Given the description of an element on the screen output the (x, y) to click on. 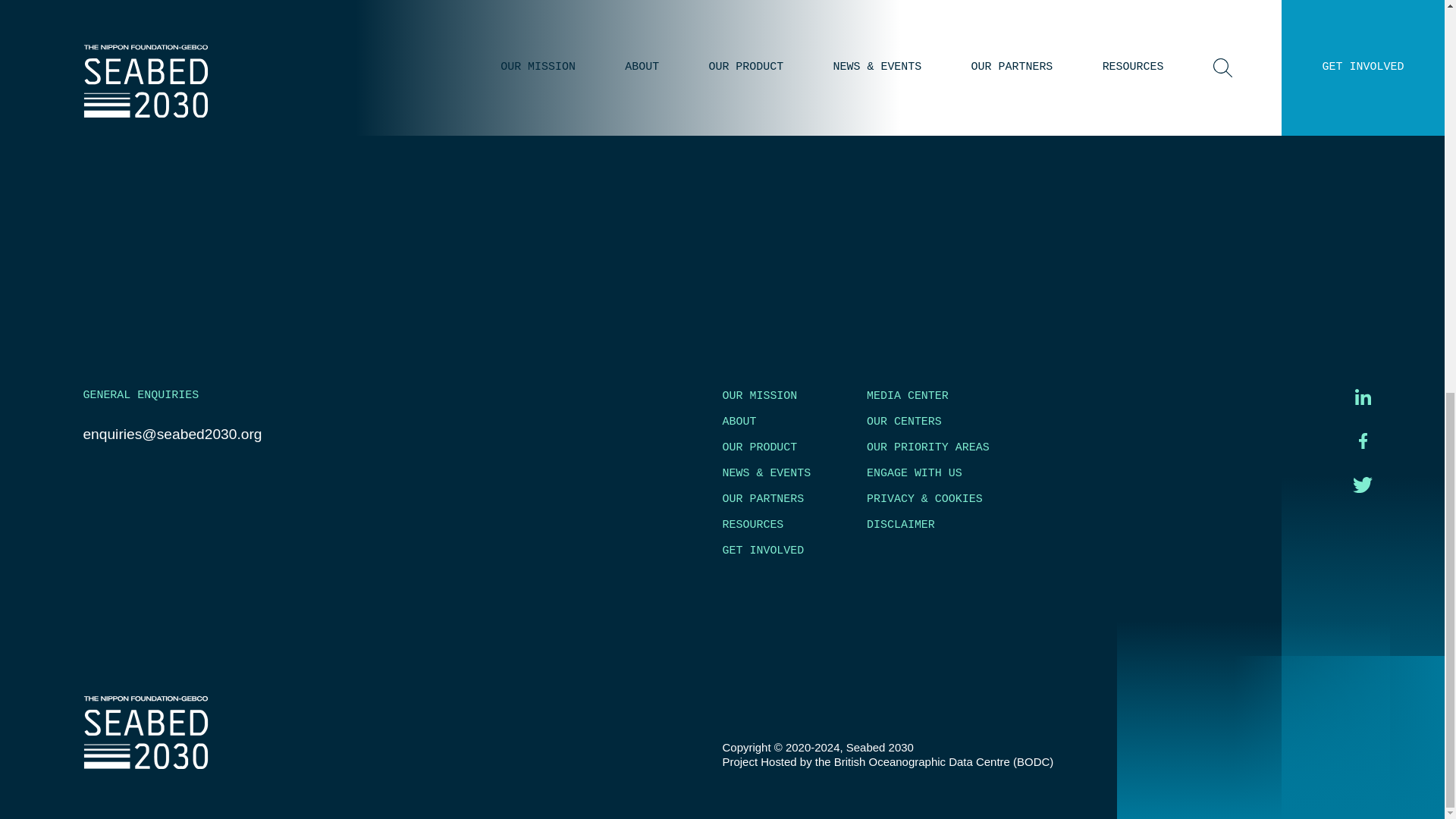
DISCLAIMER (900, 524)
OUR PRODUCT (759, 447)
OUR PARTNERS (762, 499)
OUR MISSION (759, 395)
OUR CENTERS (904, 421)
RESOURCES (752, 524)
ABOUT (738, 421)
GET INVOLVED (762, 550)
OUR PRIORITY AREAS (928, 447)
ENGAGE WITH US (914, 472)
